Given the description of an element on the screen output the (x, y) to click on. 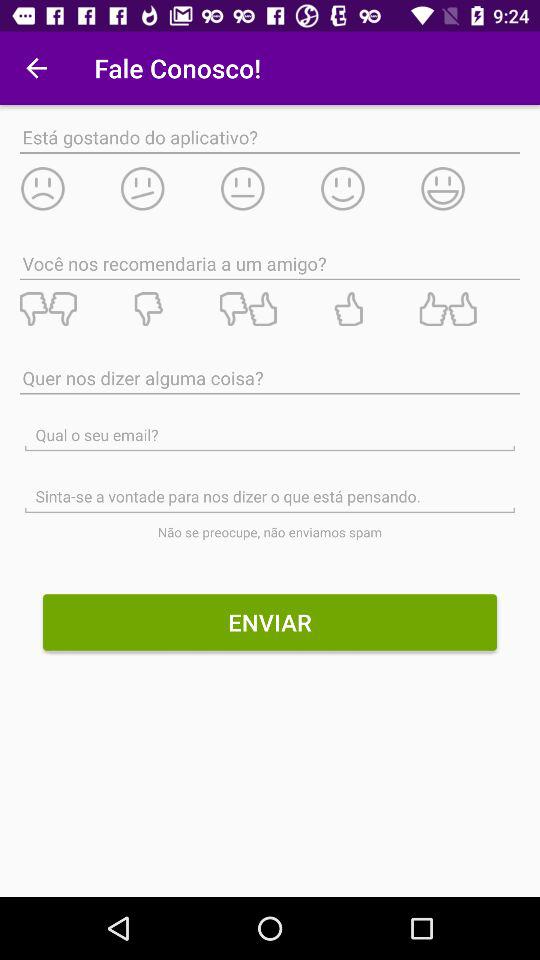
emoticon for rate the app (469, 188)
